Given the description of an element on the screen output the (x, y) to click on. 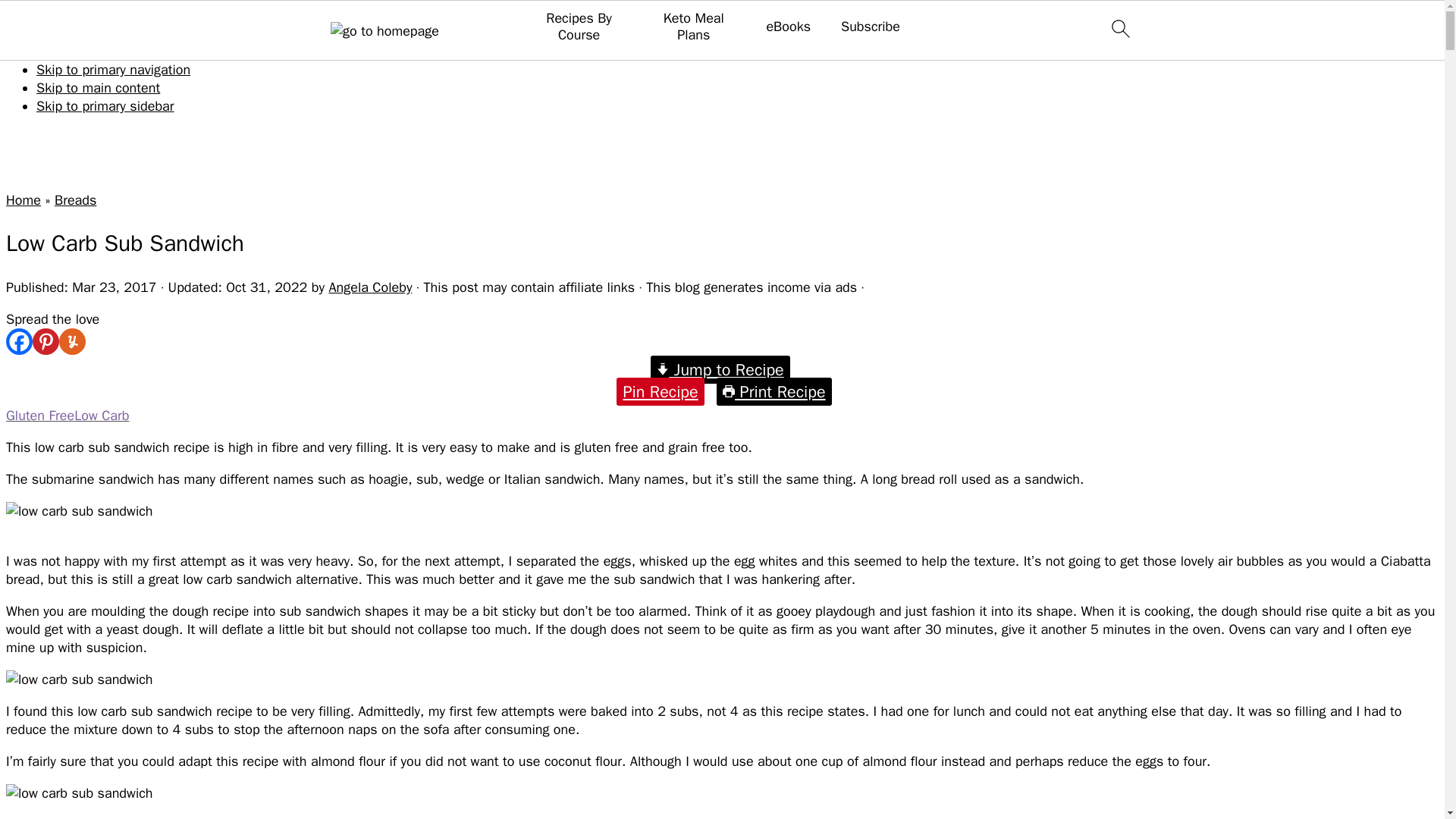
Facebook (18, 341)
Subscribe (870, 27)
Yummly (72, 341)
Skip to primary sidebar (105, 105)
Keto Meal Plans (692, 26)
eBooks (787, 27)
search icon (1119, 28)
Skip to main content (98, 87)
Recipes By Course (579, 26)
Pinterest (45, 341)
